Given the description of an element on the screen output the (x, y) to click on. 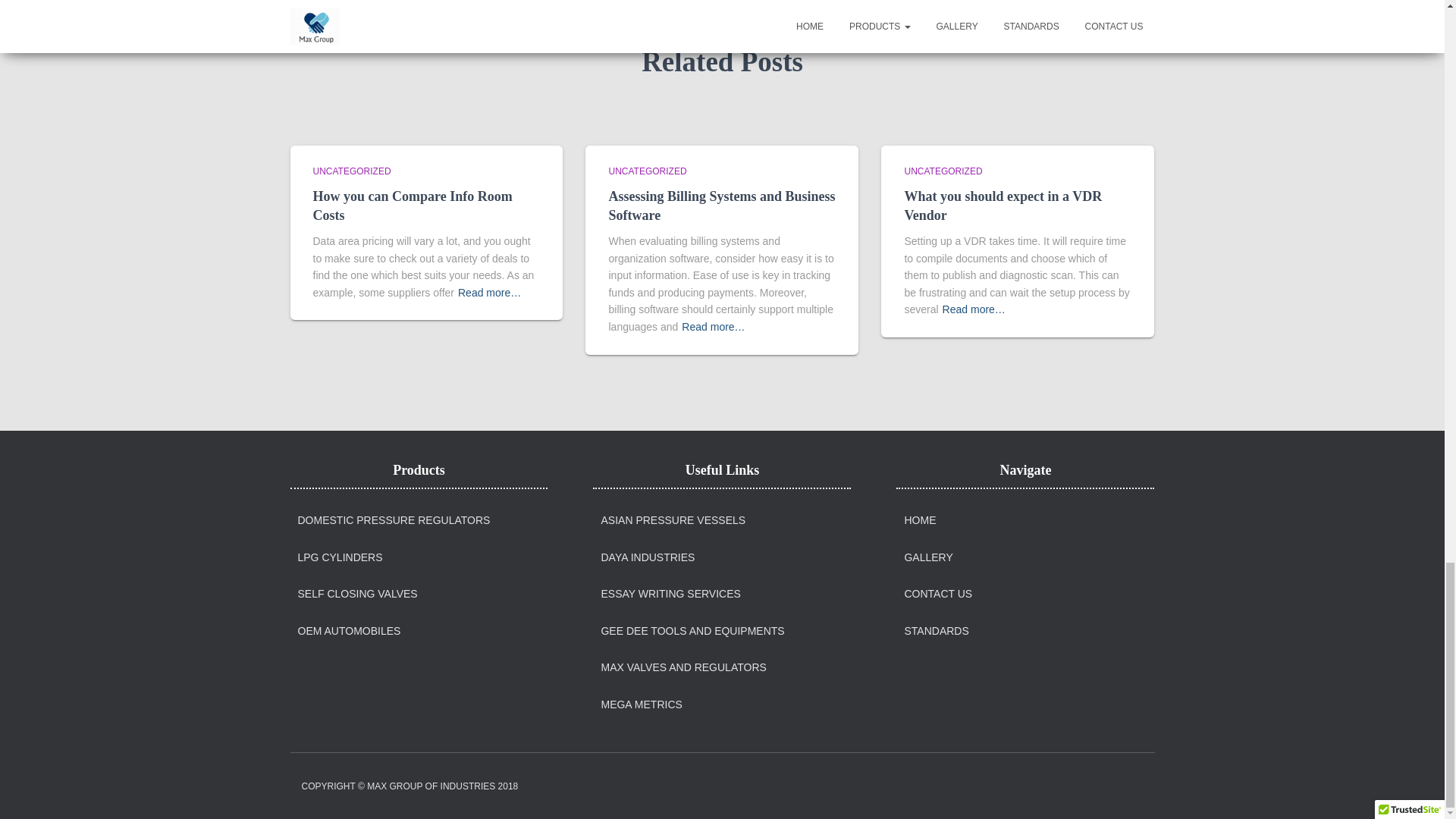
SELF CLOSING VALVES (356, 594)
How you can Compare Info Room Costs (412, 205)
MAX VALVES AND REGULATORS (682, 667)
UNCATEGORIZED (646, 171)
How you can Compare Info Room Costs (412, 205)
UNCATEGORIZED (351, 171)
CONTACT US (938, 594)
GALLERY (928, 557)
HOME (920, 520)
View all posts in Uncategorized (646, 171)
View all posts in Uncategorized (351, 171)
Assessing Billing Systems and Business Software (721, 205)
MEGA METRICS (640, 704)
GEE DEE TOOLS AND EQUIPMENTS (691, 631)
ASIAN PRESSURE VESSELS (672, 520)
